Given the description of an element on the screen output the (x, y) to click on. 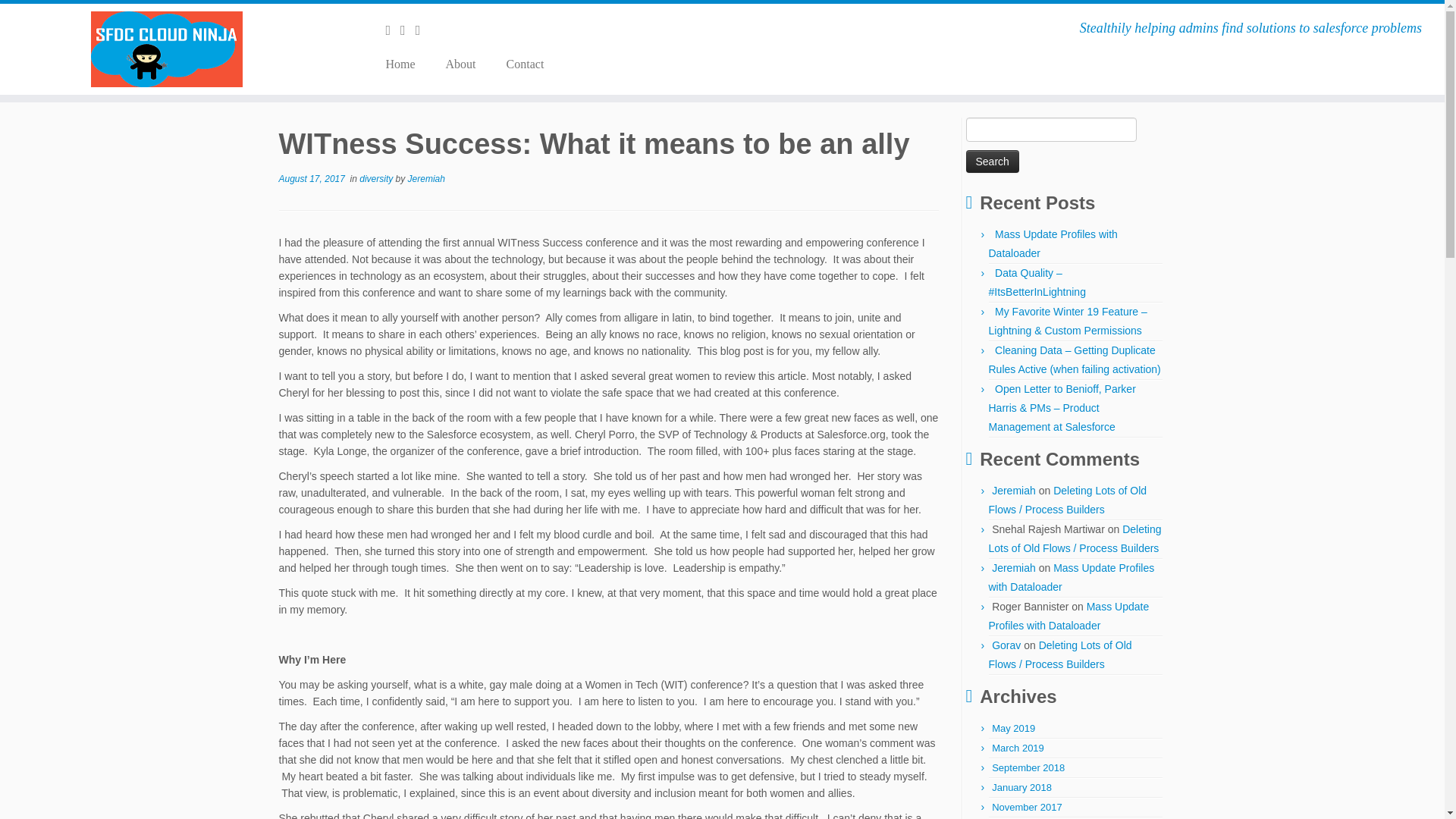
Jeremiah (426, 178)
Search (992, 160)
Contact (518, 64)
November 2017 (1026, 807)
May 2019 (1013, 727)
Gorav (1005, 645)
August 17, 2017 (312, 178)
Follow me on Twitter (407, 29)
1:34 pm (312, 178)
Mass Update Profiles with Dataloader (1071, 576)
